Given the description of an element on the screen output the (x, y) to click on. 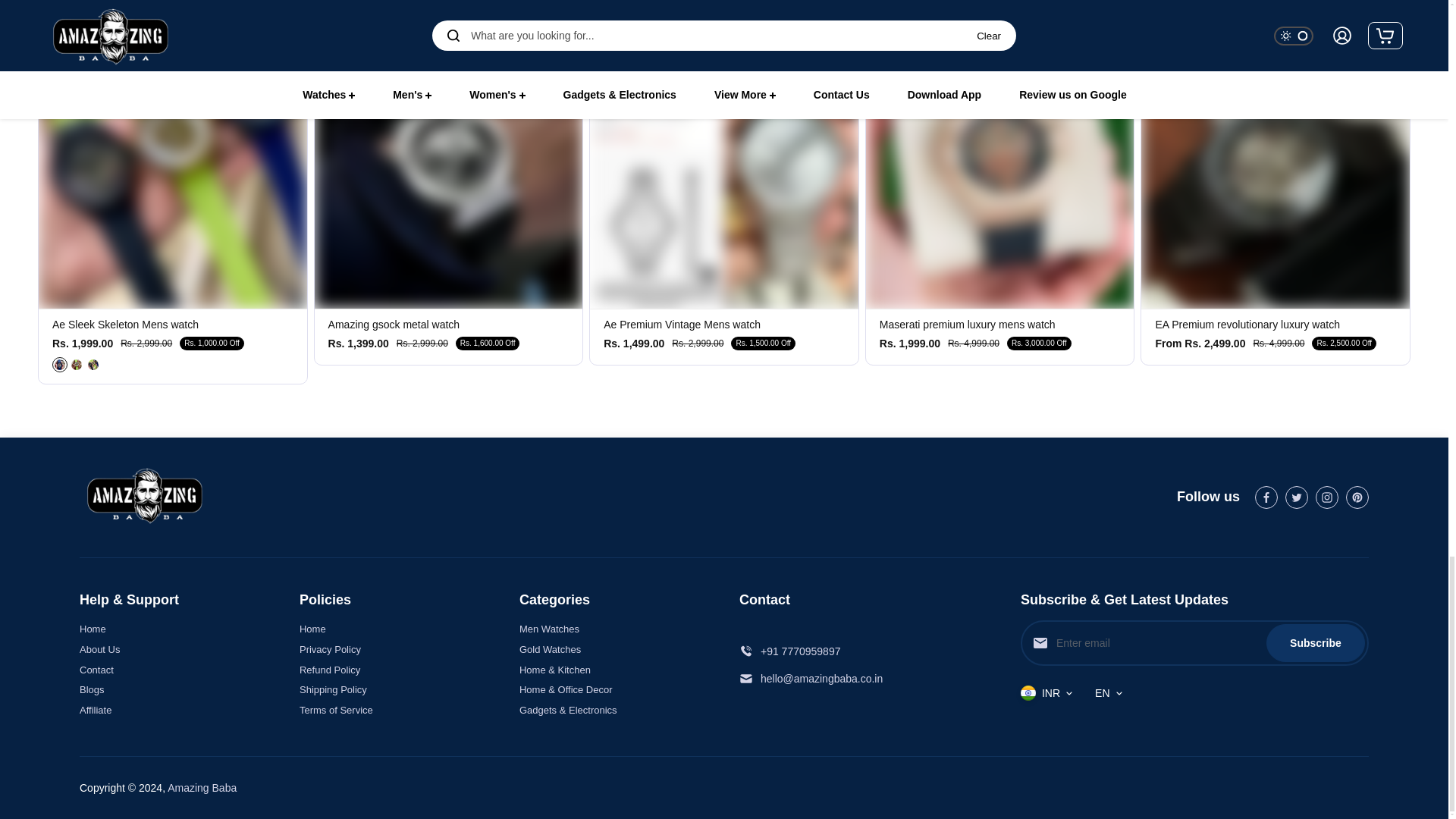
Green (76, 364)
Blue (59, 364)
Black (92, 364)
A (336, 20)
D (385, 20)
Gold (627, 20)
C (369, 20)
Rose Gold (611, 20)
B (352, 20)
Silver (644, 20)
